Given the description of an element on the screen output the (x, y) to click on. 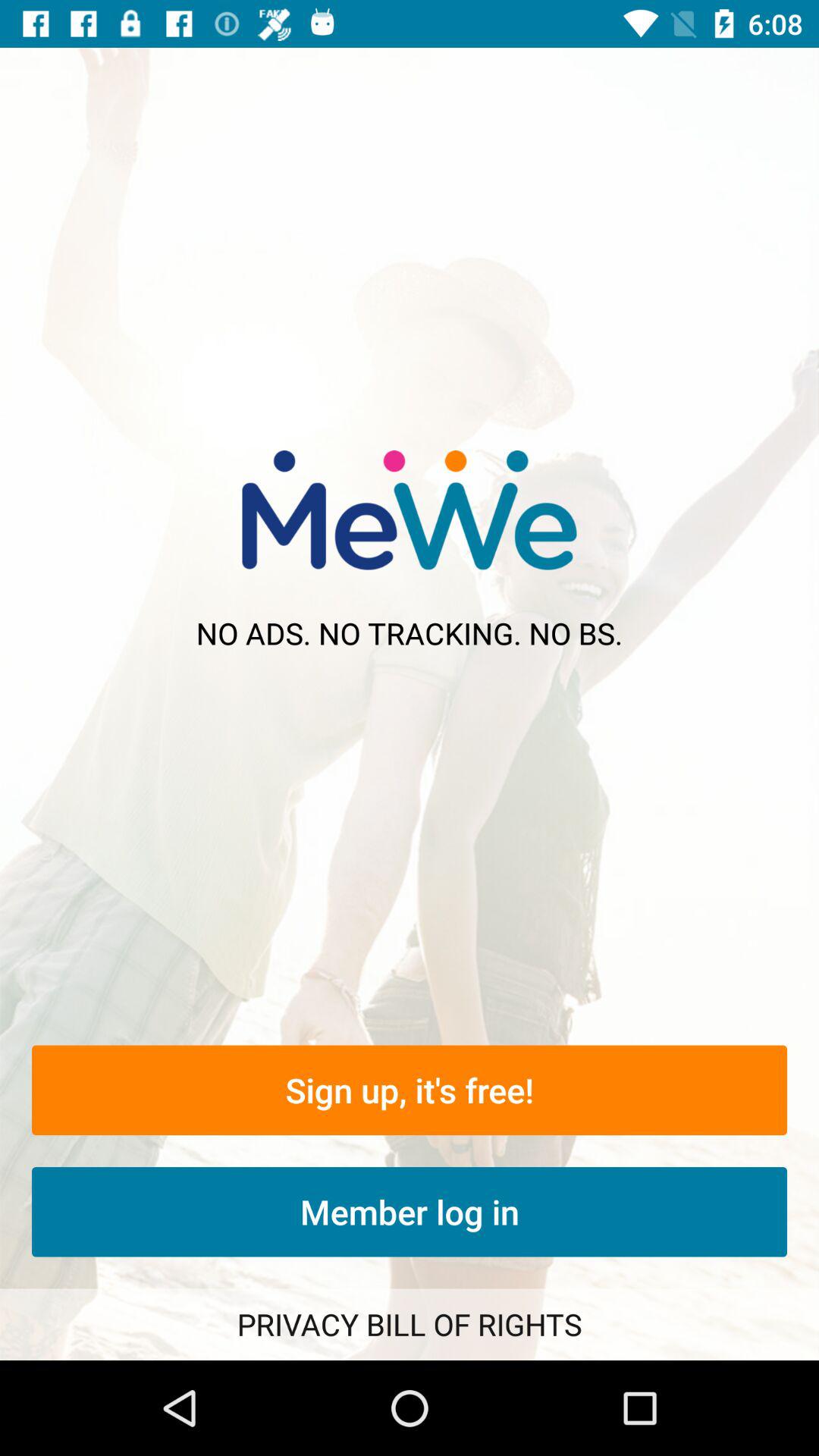
select item above member log in item (409, 1090)
